Given the description of an element on the screen output the (x, y) to click on. 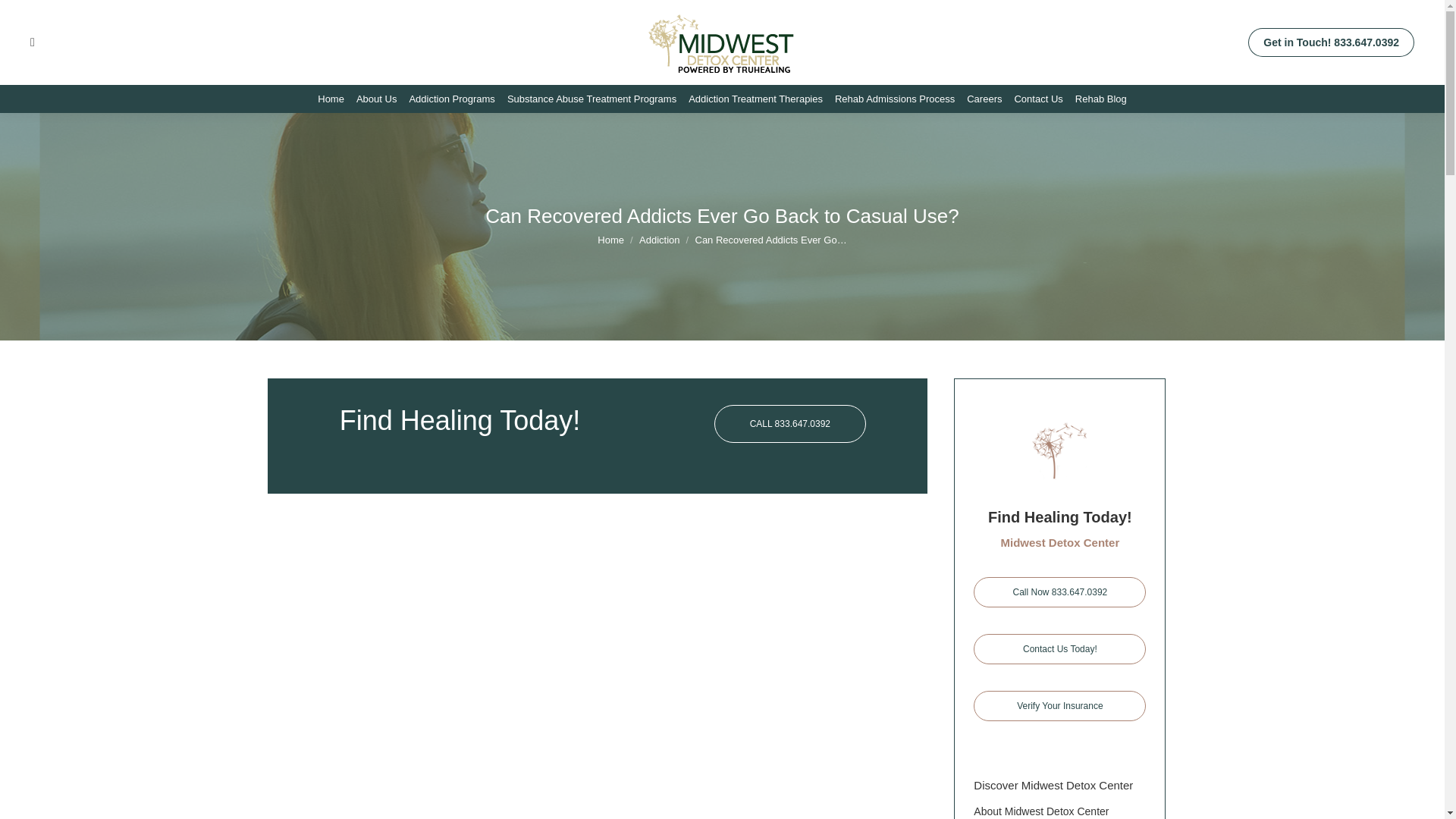
Addiction Programs (451, 99)
Contact Midwest Detox Center (1059, 648)
Go! (24, 15)
Home (610, 239)
Addiction Treatment Therapies (755, 99)
Get in Touch! 833.647.0392 (1330, 41)
Addiction (659, 239)
Midwest Detox Center old ipad (1059, 450)
About Us (376, 99)
Home (330, 99)
